Given the description of an element on the screen output the (x, y) to click on. 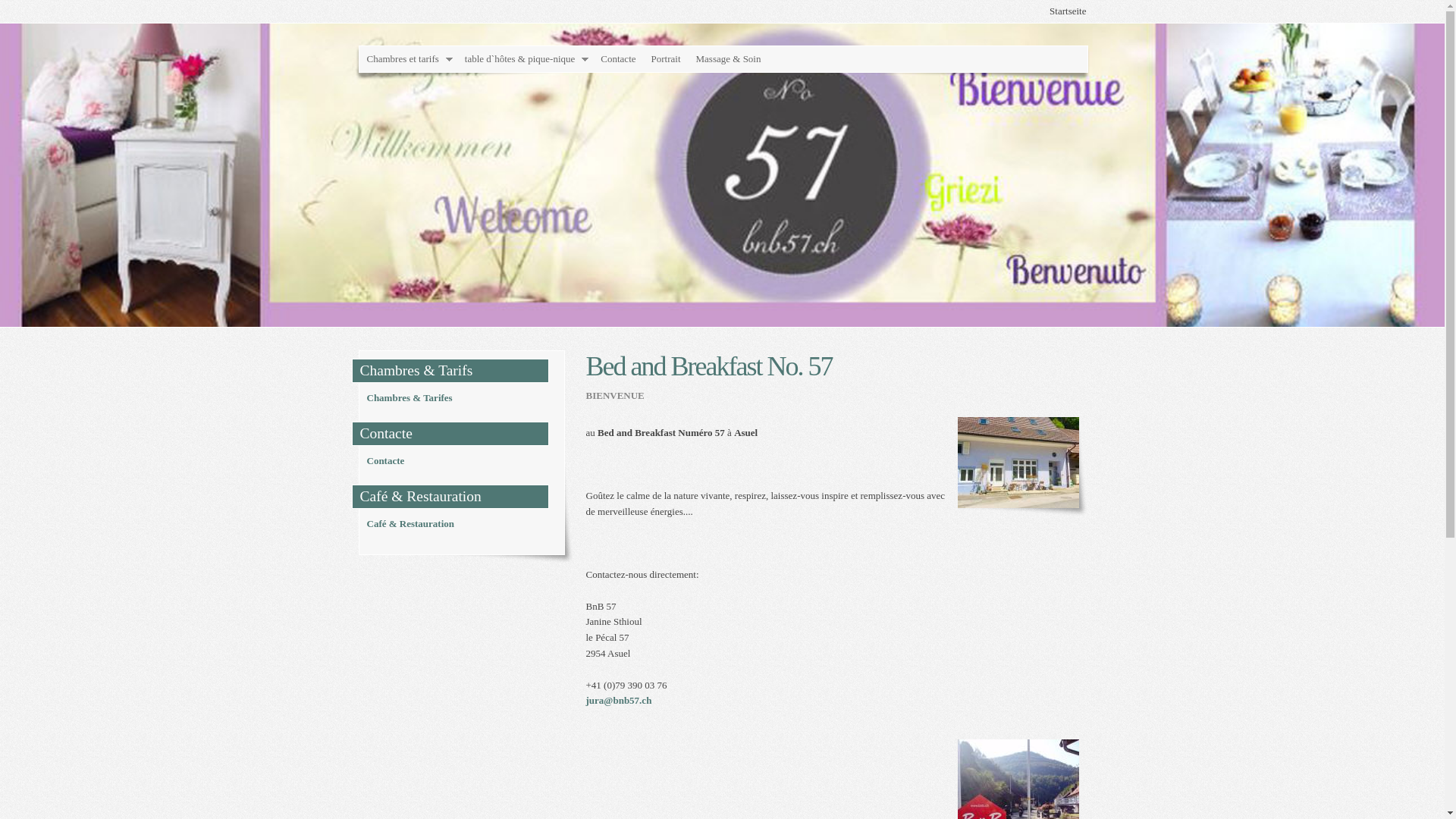
Portrait Element type: text (665, 59)
Startseite Element type: text (1067, 10)
jura@bnb57.ch Element type: text (618, 700)
Contacte Element type: text (385, 460)
Chambres et tarifs Element type: text (408, 59)
Chambres & Tarifes Element type: text (409, 397)
Contacte Element type: text (618, 59)
Massage & Soin Element type: text (728, 59)
